Given the description of an element on the screen output the (x, y) to click on. 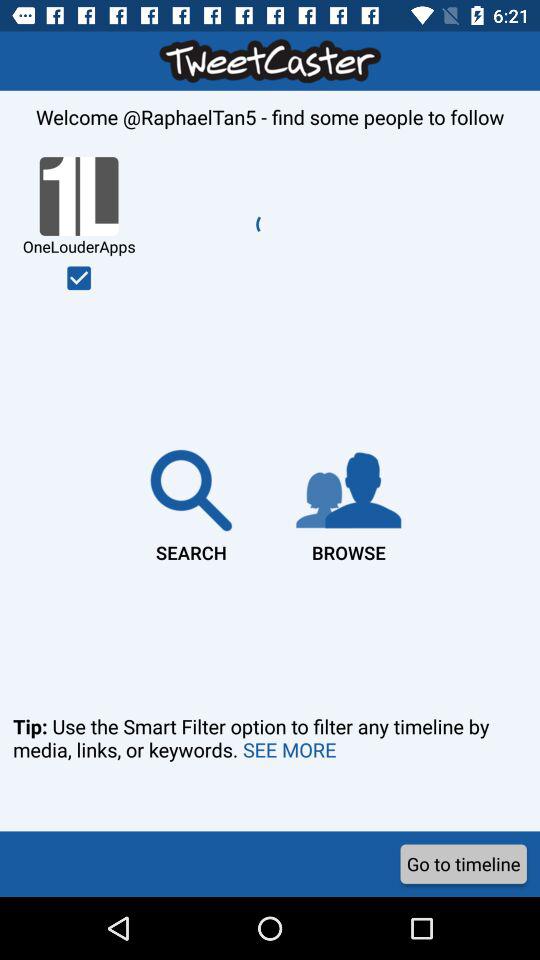
choose icon above the tip use the item (79, 278)
